Given the description of an element on the screen output the (x, y) to click on. 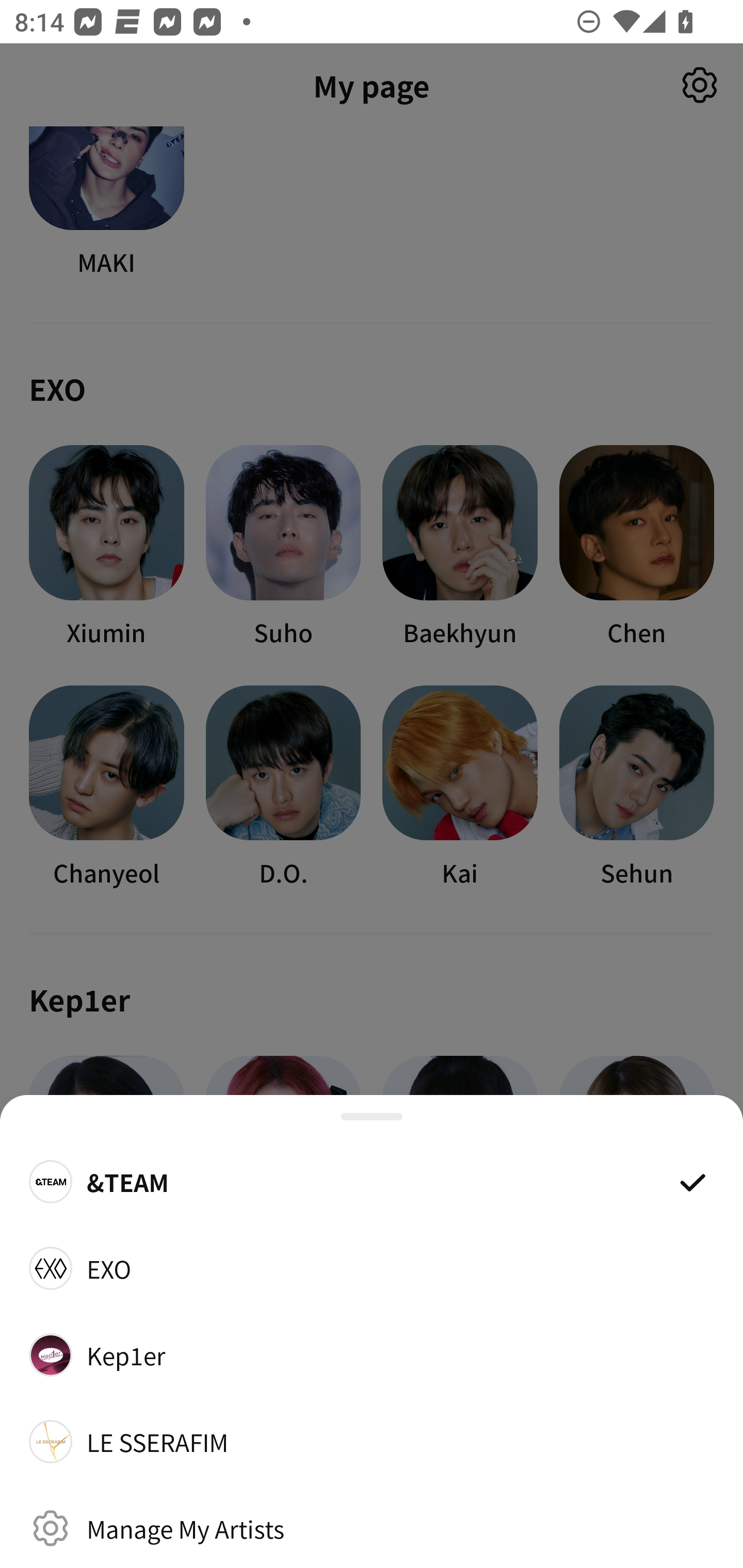
&TEAM (371, 1181)
EXO (371, 1268)
Kep1er (371, 1354)
LE SSERAFIM (371, 1441)
Manage My Artists (371, 1527)
